Given the description of an element on the screen output the (x, y) to click on. 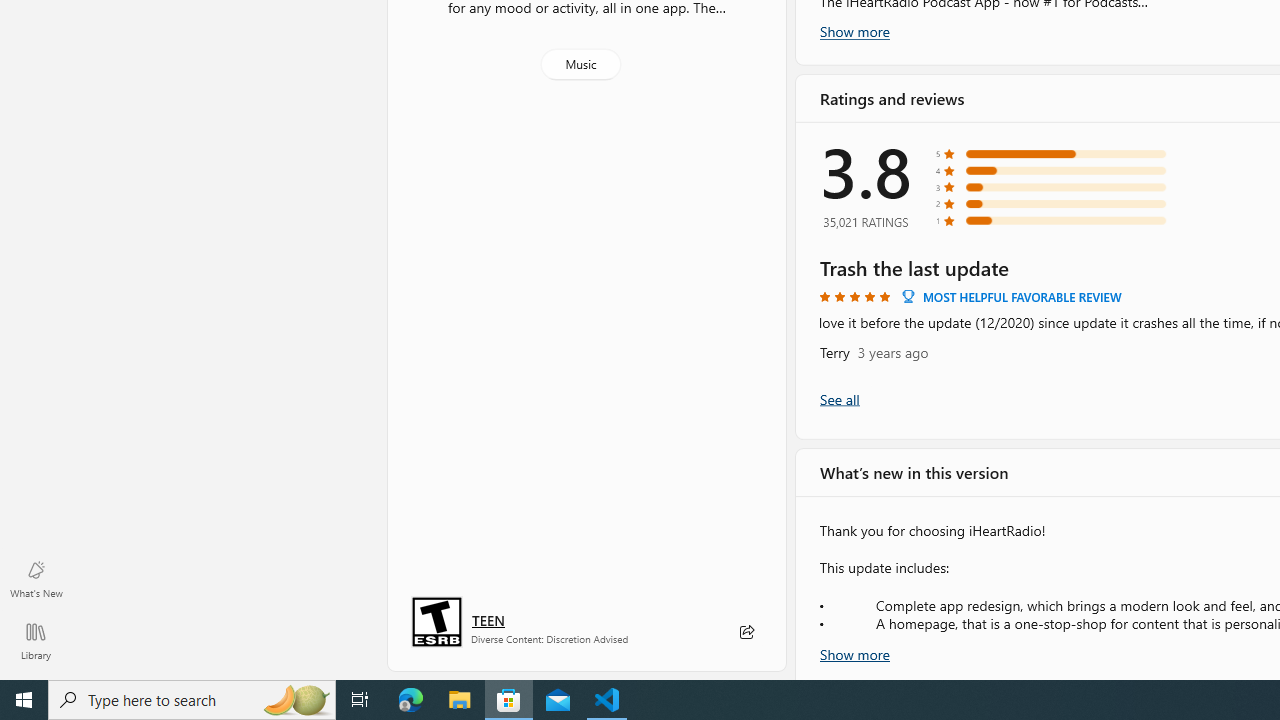
What's New (35, 578)
Library (35, 640)
Share (746, 632)
Age rating: TEEN. Click for more information. (488, 619)
Show more (854, 652)
Show all ratings and reviews (838, 398)
Music (580, 63)
